Given the description of an element on the screen output the (x, y) to click on. 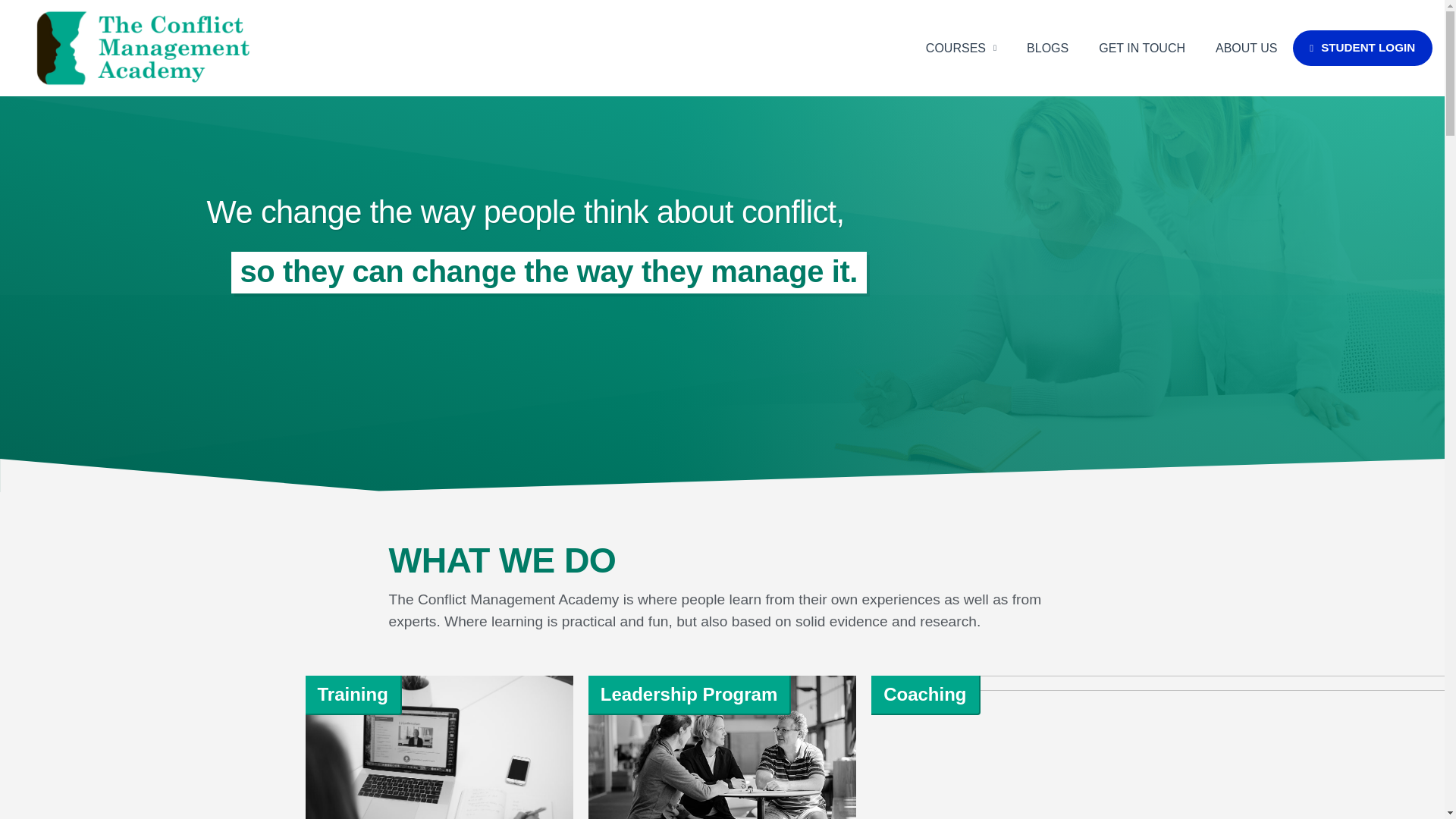
STUDENT LOGIN (1361, 48)
GET IN TOUCH (1141, 47)
Leadership Program (688, 693)
Coaching (924, 693)
BLOGS (1047, 47)
COURSES (961, 47)
ABOUT US (1245, 47)
Training (352, 693)
